Given the description of an element on the screen output the (x, y) to click on. 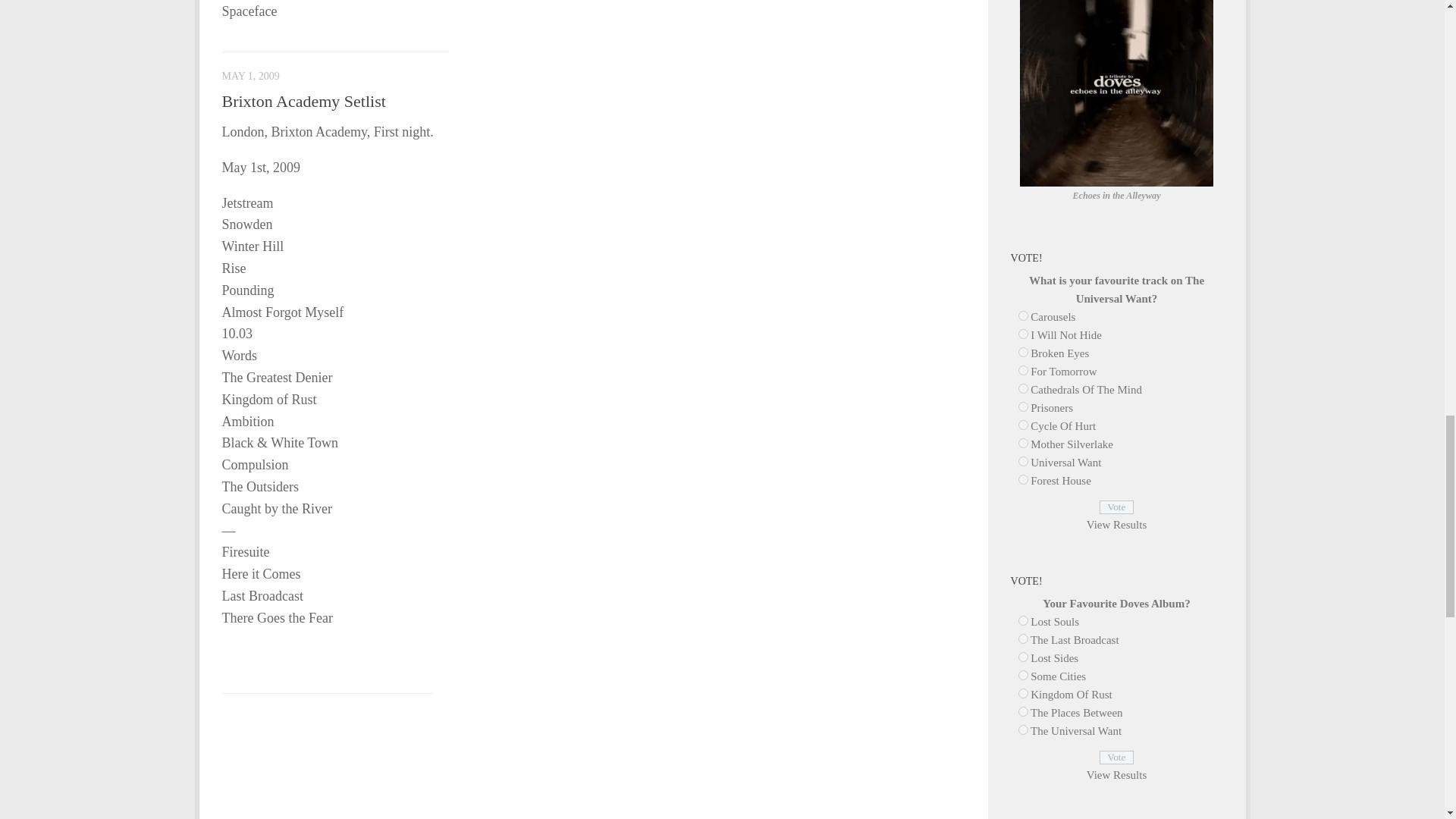
10 (1022, 693)
45 (1022, 334)
46 (1022, 352)
53 (1022, 479)
54 (1022, 729)
8 (1022, 656)
6 (1022, 620)
9 (1022, 675)
51 (1022, 442)
50 (1022, 424)
